Given the description of an element on the screen output the (x, y) to click on. 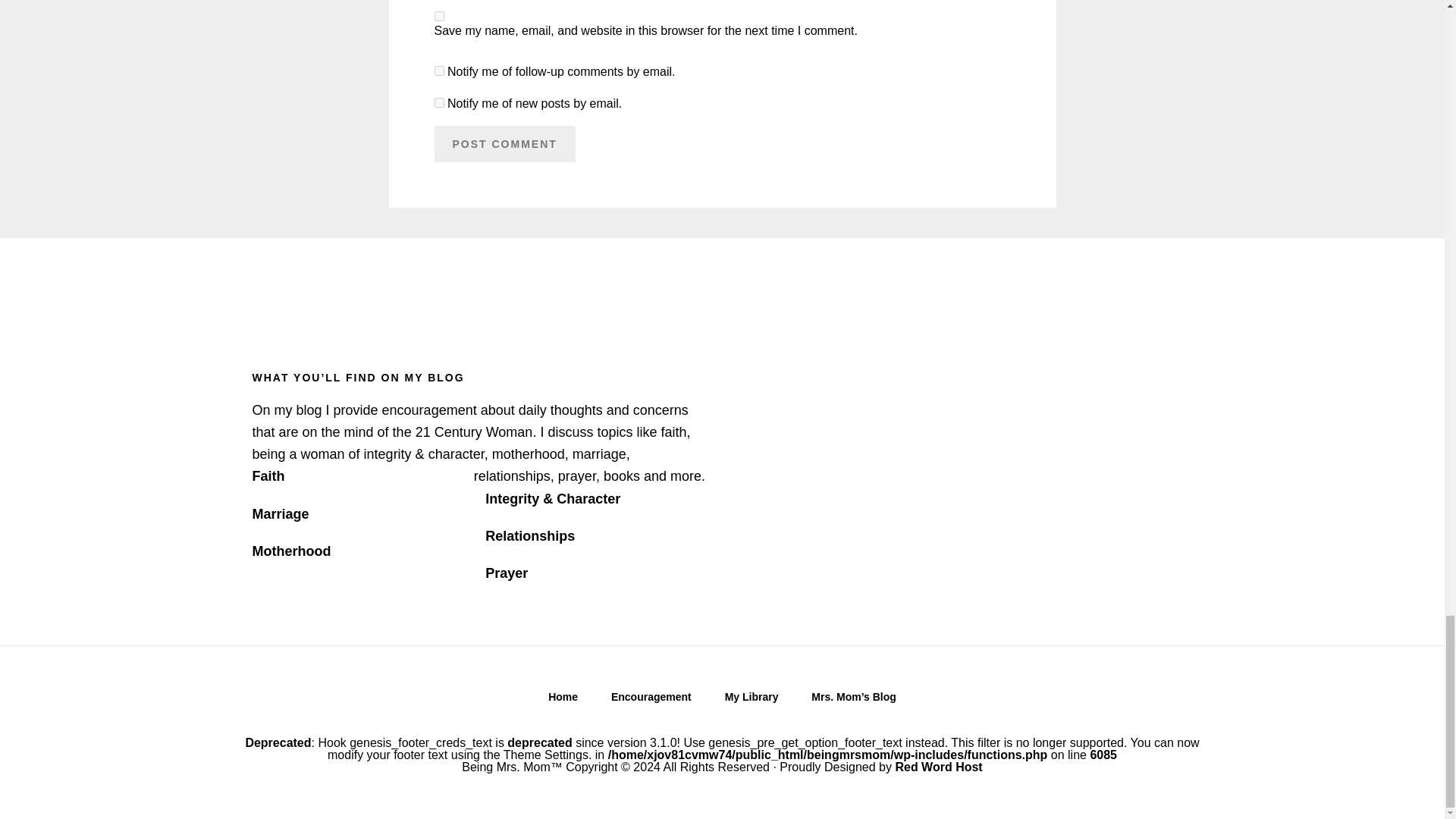
Motherhood (290, 550)
Marriage (279, 513)
Faith (267, 476)
yes (438, 16)
subscribe (438, 102)
Relationships (529, 535)
Post Comment (504, 144)
subscribe (438, 71)
Post Comment (504, 144)
My Library (751, 700)
Prayer (505, 572)
Encouragement (650, 700)
Home (562, 700)
